Given the description of an element on the screen output the (x, y) to click on. 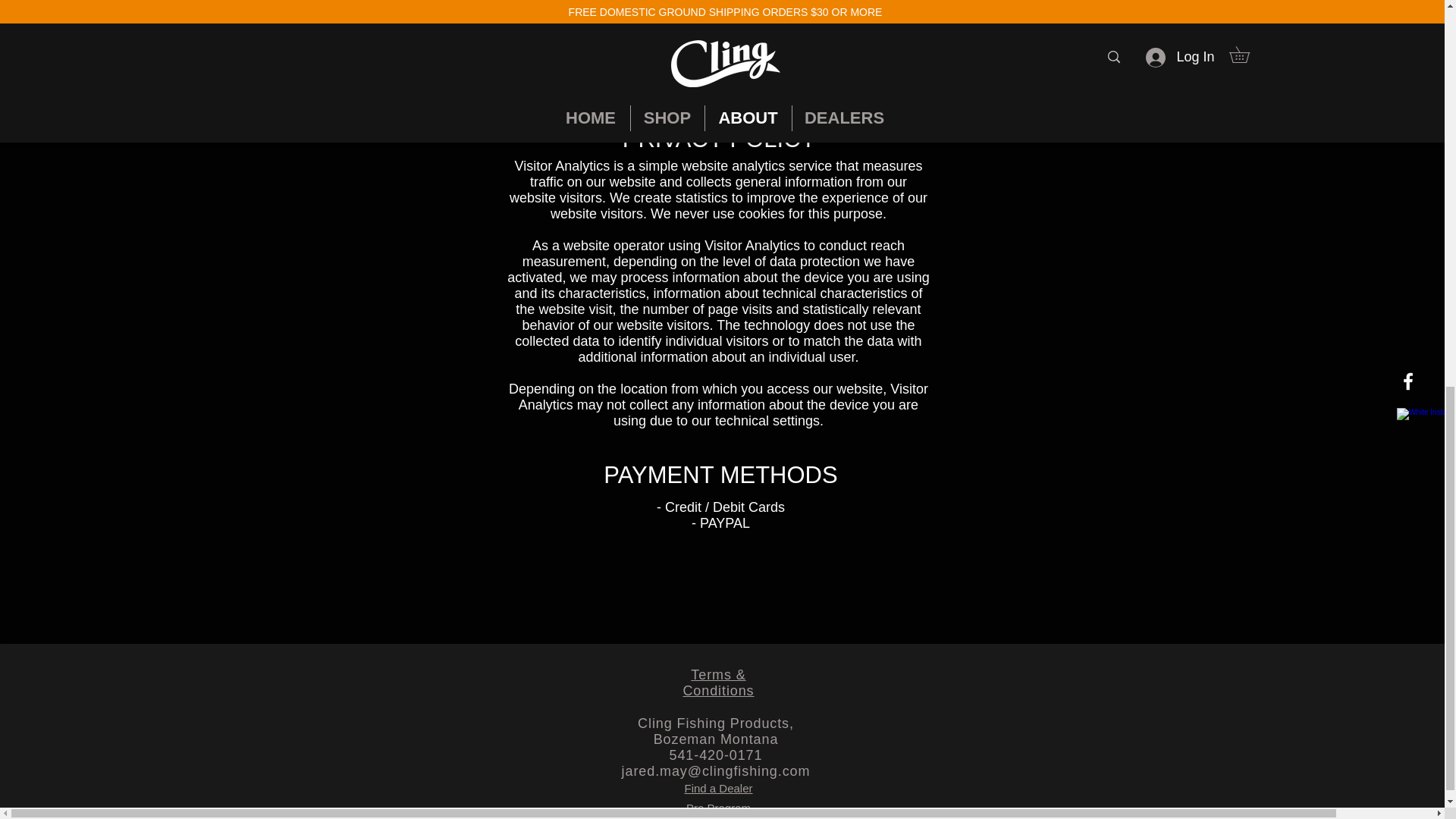
Pro Program (718, 807)
Return Form Link (721, 56)
Find a Dealer (718, 788)
